Given the description of an element on the screen output the (x, y) to click on. 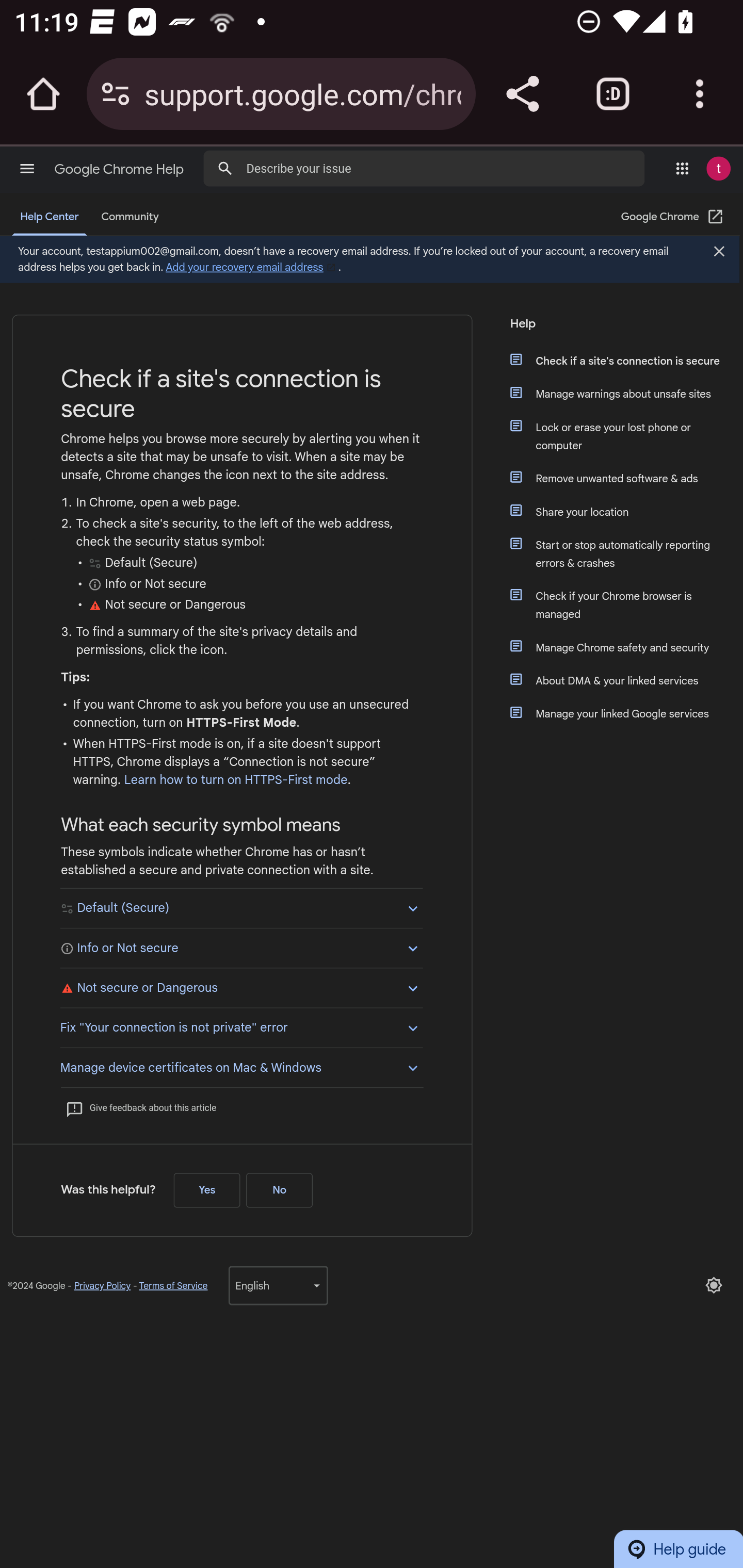
Open the home page (43, 93)
Connection is secure (115, 93)
Share (522, 93)
Switch or close tabs (612, 93)
Customize and control Google Chrome (699, 93)
